Given the description of an element on the screen output the (x, y) to click on. 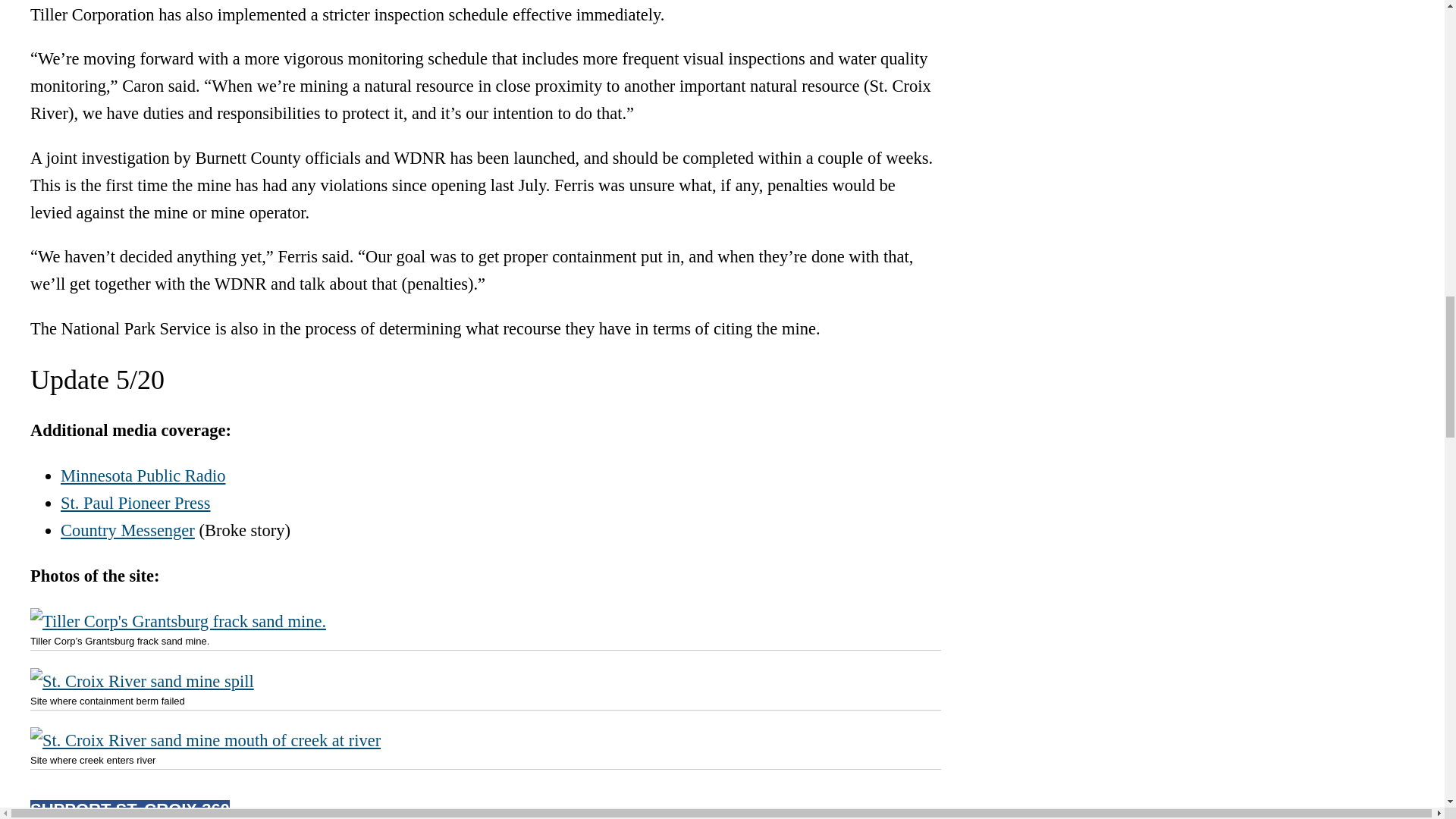
Minnesota Public Radio (143, 475)
St. Paul Pioneer Press (136, 502)
Country Messenger (128, 529)
SUPPORT ST. CROIX 360 (485, 809)
